Given the description of an element on the screen output the (x, y) to click on. 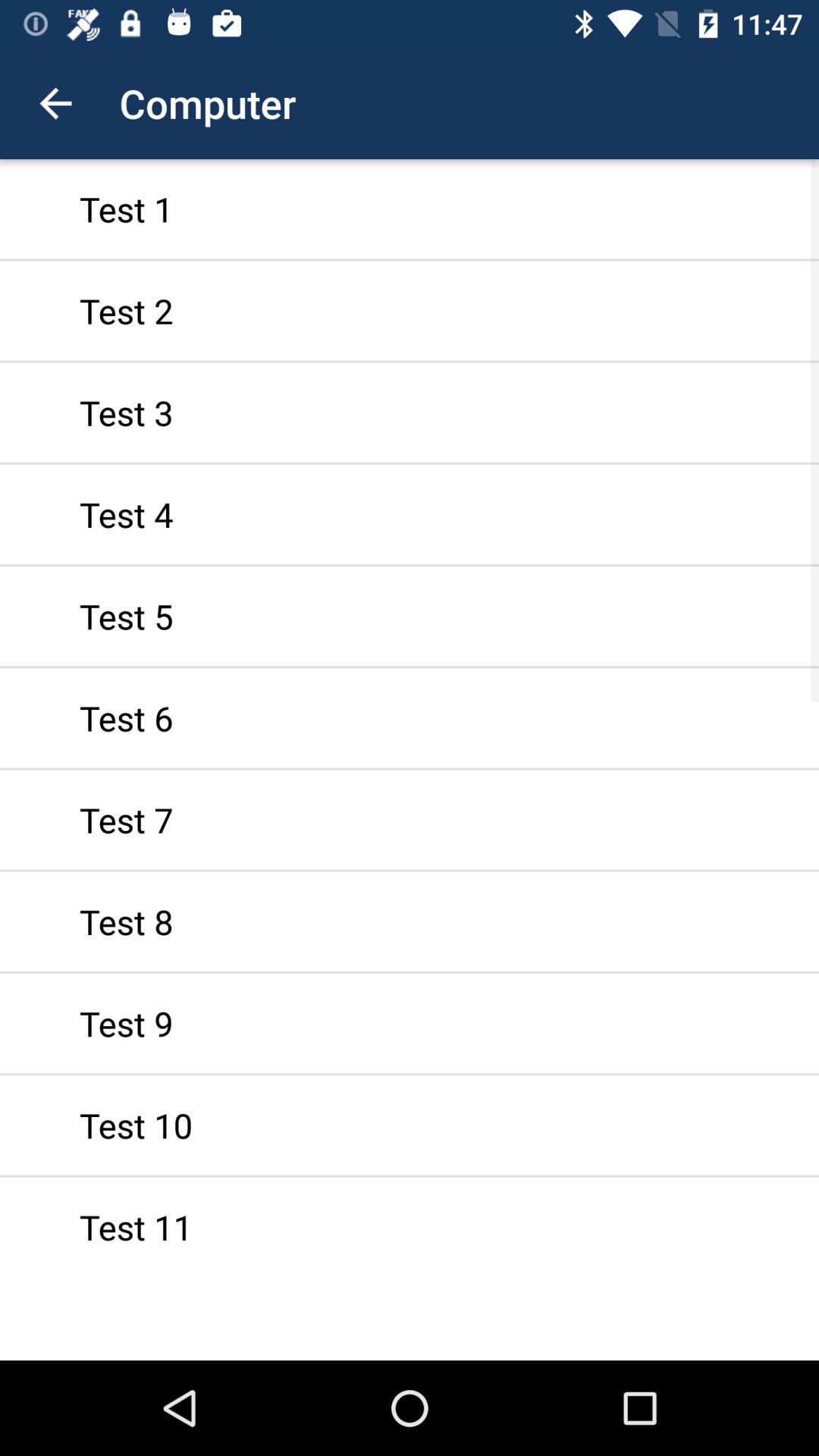
launch the app to the left of computer (55, 103)
